Given the description of an element on the screen output the (x, y) to click on. 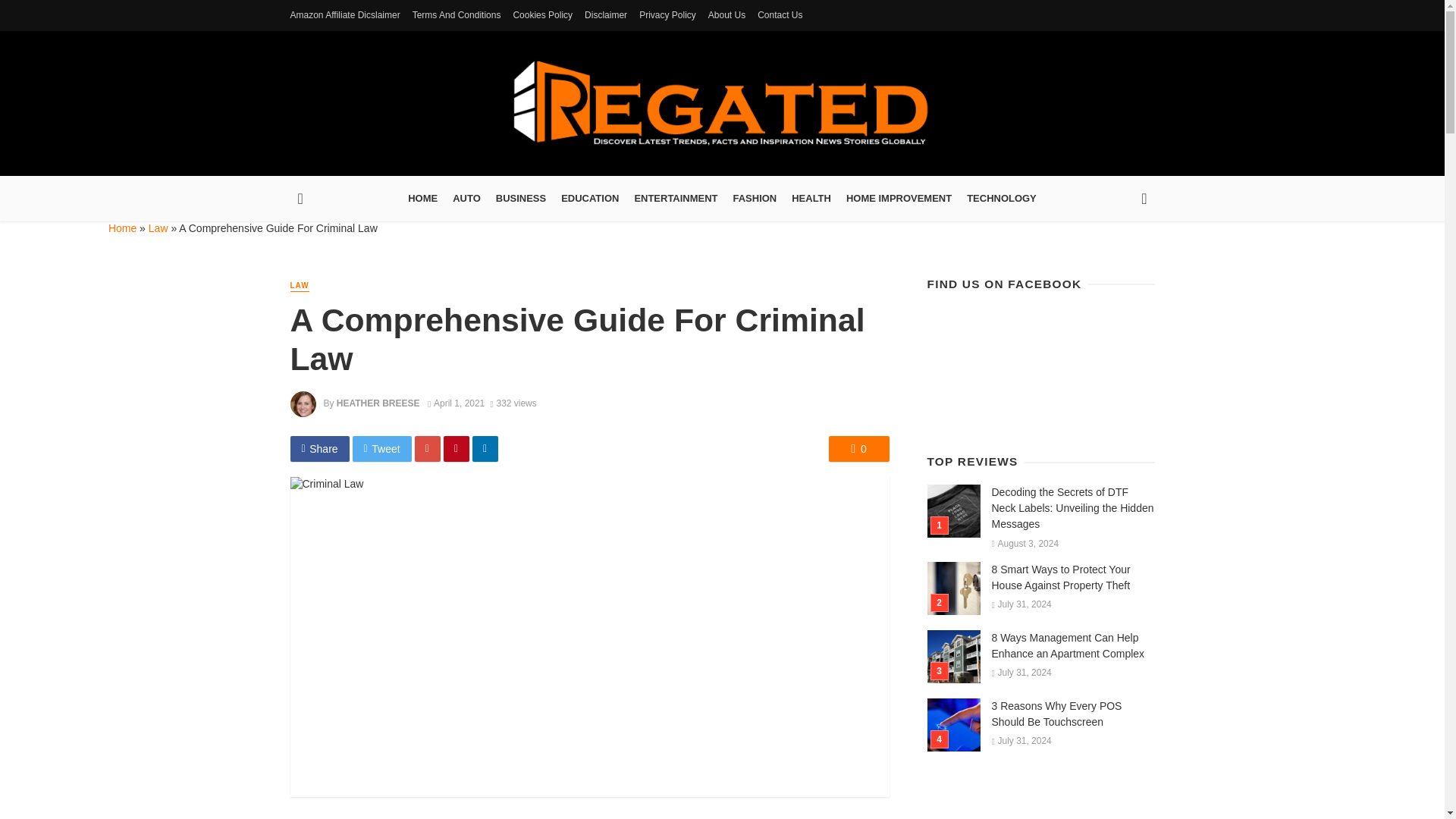
Privacy Policy (667, 14)
0 (858, 448)
FASHION (754, 198)
BUSINESS (520, 198)
Tweet (382, 448)
Law (158, 227)
Share on Pinterest (456, 448)
HOME (422, 198)
HEATHER BREESE (378, 403)
